Given the description of an element on the screen output the (x, y) to click on. 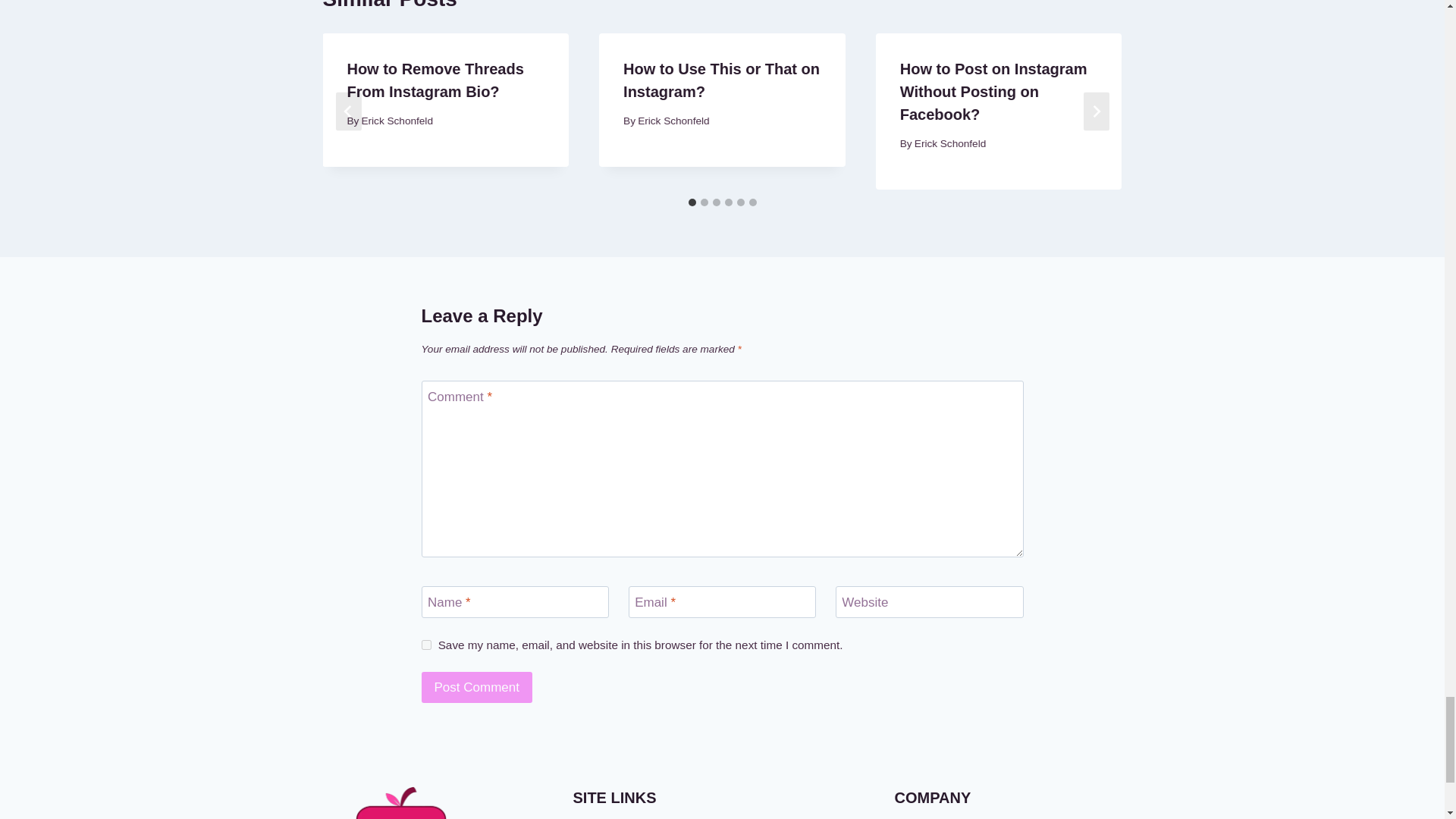
yes (426, 644)
Post Comment (477, 686)
